Given the description of an element on the screen output the (x, y) to click on. 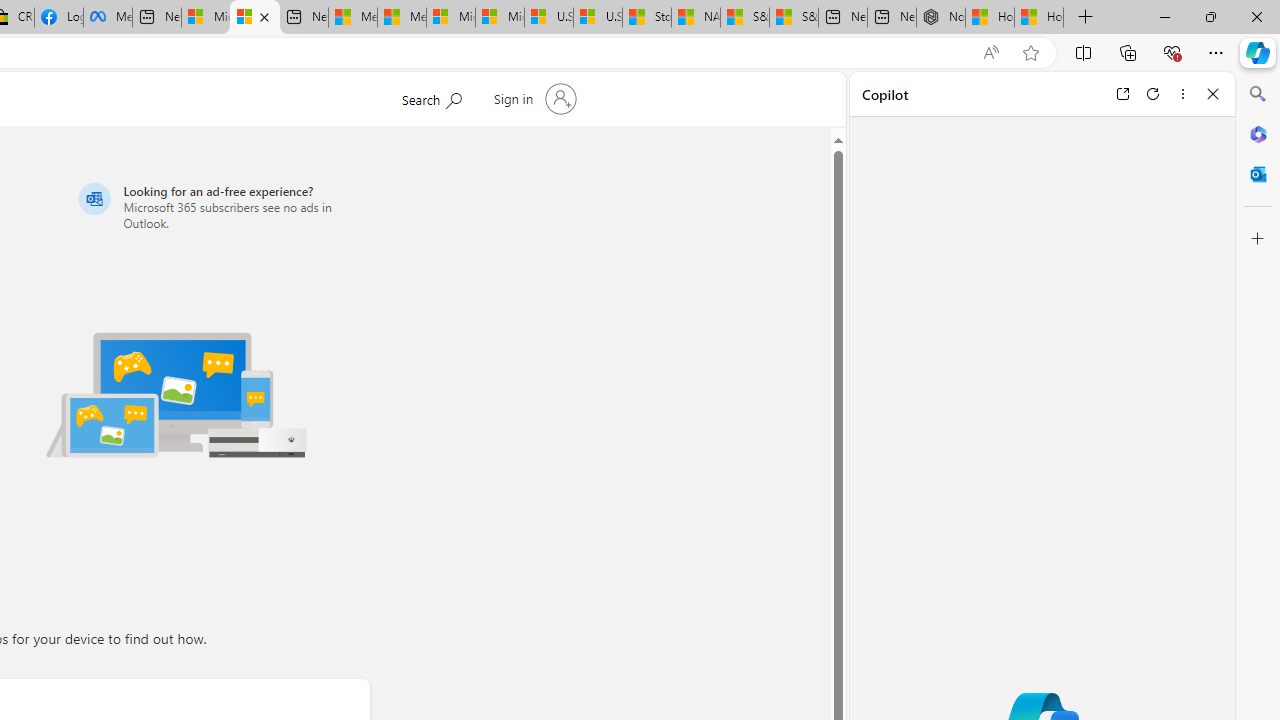
Microsoft account | Privacy (254, 17)
Outlook (1258, 174)
Log into Facebook (58, 17)
Open link in new tab (1122, 93)
Sign in to your account (532, 98)
How to Use a Monitor With Your Closed Laptop (1039, 17)
Looking for an ad-free experience? (220, 206)
